Given the description of an element on the screen output the (x, y) to click on. 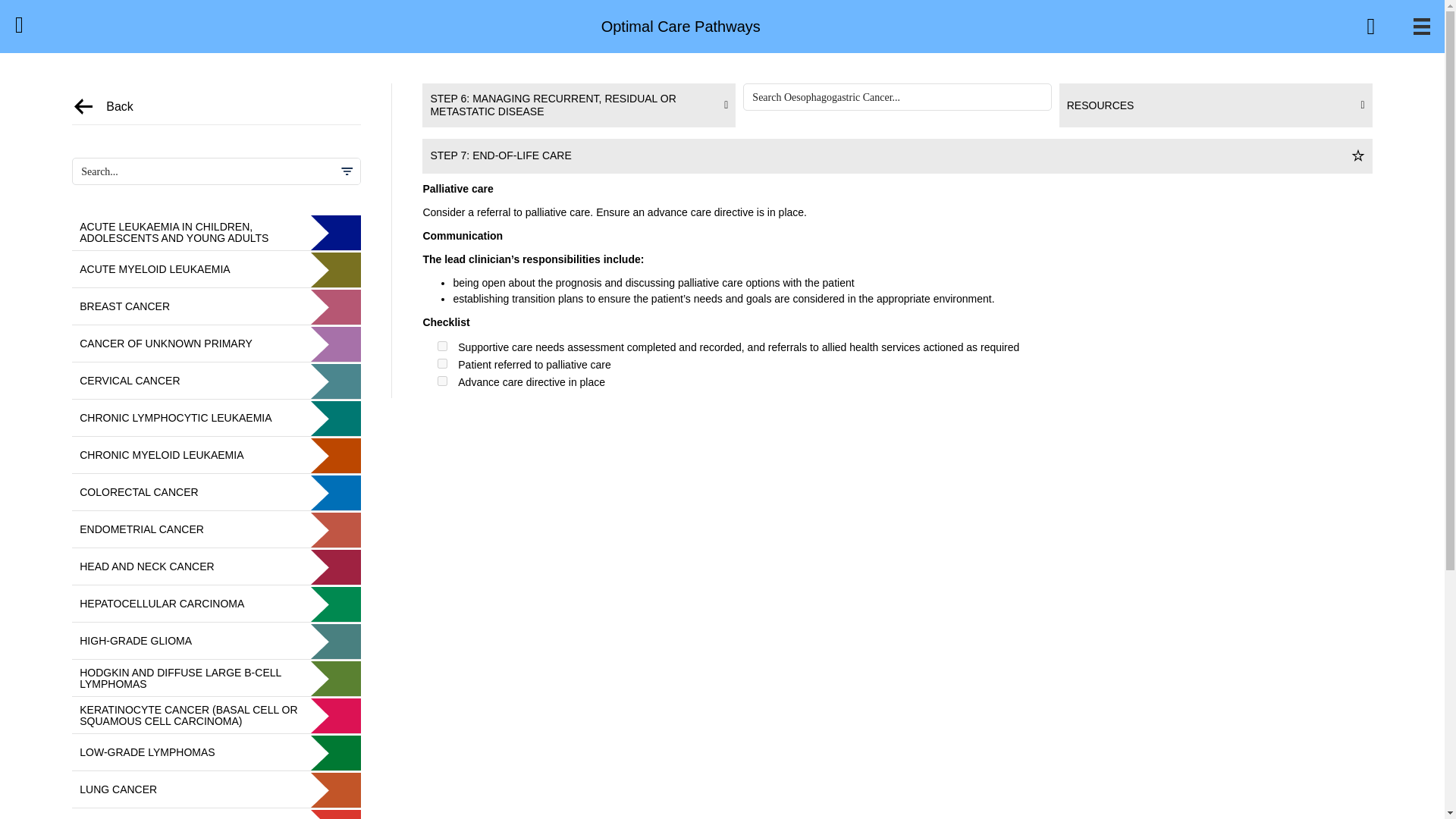
CERVICAL CANCER (216, 380)
HIGH-GRADE GLIOMA (216, 641)
CHRONIC MYELOID LEUKAEMIA (216, 455)
ACUTE MYELOID LEUKAEMIA (216, 269)
CANCER OF UNKNOWN PRIMARY (216, 343)
HEPATOCELLULAR CARCINOMA (216, 604)
CHRONIC LYMPHOCYTIC LEUKAEMIA (216, 418)
Back (119, 106)
BREAST CANCER (216, 306)
HEAD AND NECK CANCER (216, 566)
